Given the description of an element on the screen output the (x, y) to click on. 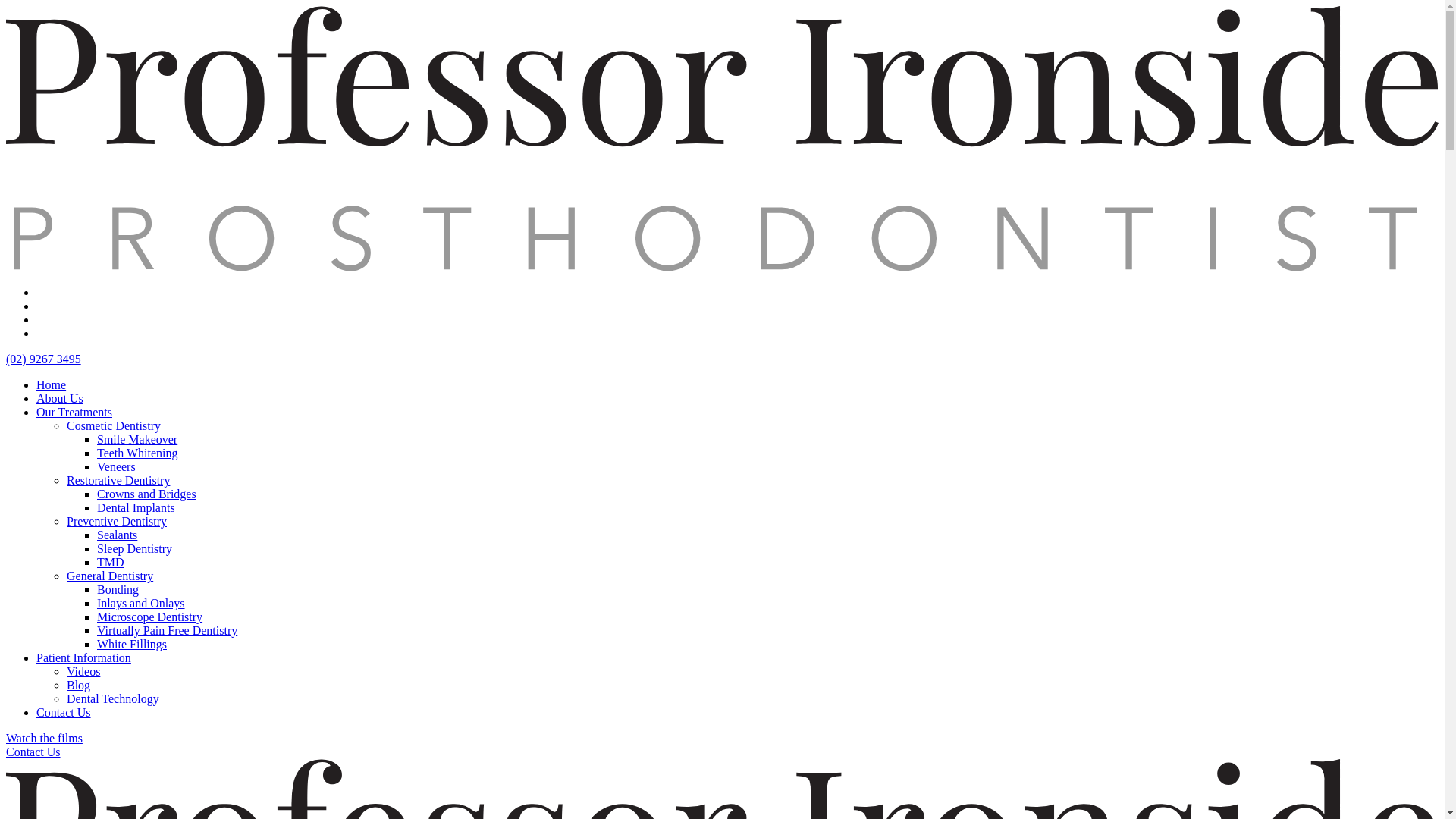
Videos Element type: text (83, 671)
(02) 9267 3495 Element type: text (43, 358)
About Us Element type: text (59, 398)
General Dentistry Element type: text (109, 575)
Dental Technology Element type: text (112, 698)
Patient Information Element type: text (83, 657)
Restorative Dentistry Element type: text (117, 479)
TMD Element type: text (110, 561)
Sleep Dentistry Element type: text (134, 548)
Crowns and Bridges Element type: text (146, 493)
Our Treatments Element type: text (74, 411)
Sealants Element type: text (117, 534)
Watch the films Element type: text (44, 737)
Cosmetic Dentistry Element type: text (113, 425)
Veneers Element type: text (116, 466)
Smile Makeover Element type: text (137, 439)
Teeth Whitening Element type: text (137, 452)
White Fillings Element type: text (131, 643)
Bonding Element type: text (117, 589)
Logo Element type: text (722, 266)
Microscope Dentistry Element type: text (149, 616)
Preventive Dentistry Element type: text (116, 520)
Contact Us Element type: text (63, 712)
Dental Implants Element type: text (136, 507)
Inlays and Onlays Element type: text (141, 602)
Home Element type: text (50, 384)
Virtually Pain Free Dentistry Element type: text (167, 630)
Contact Us Element type: text (33, 751)
Blog Element type: text (78, 684)
